Given the description of an element on the screen output the (x, y) to click on. 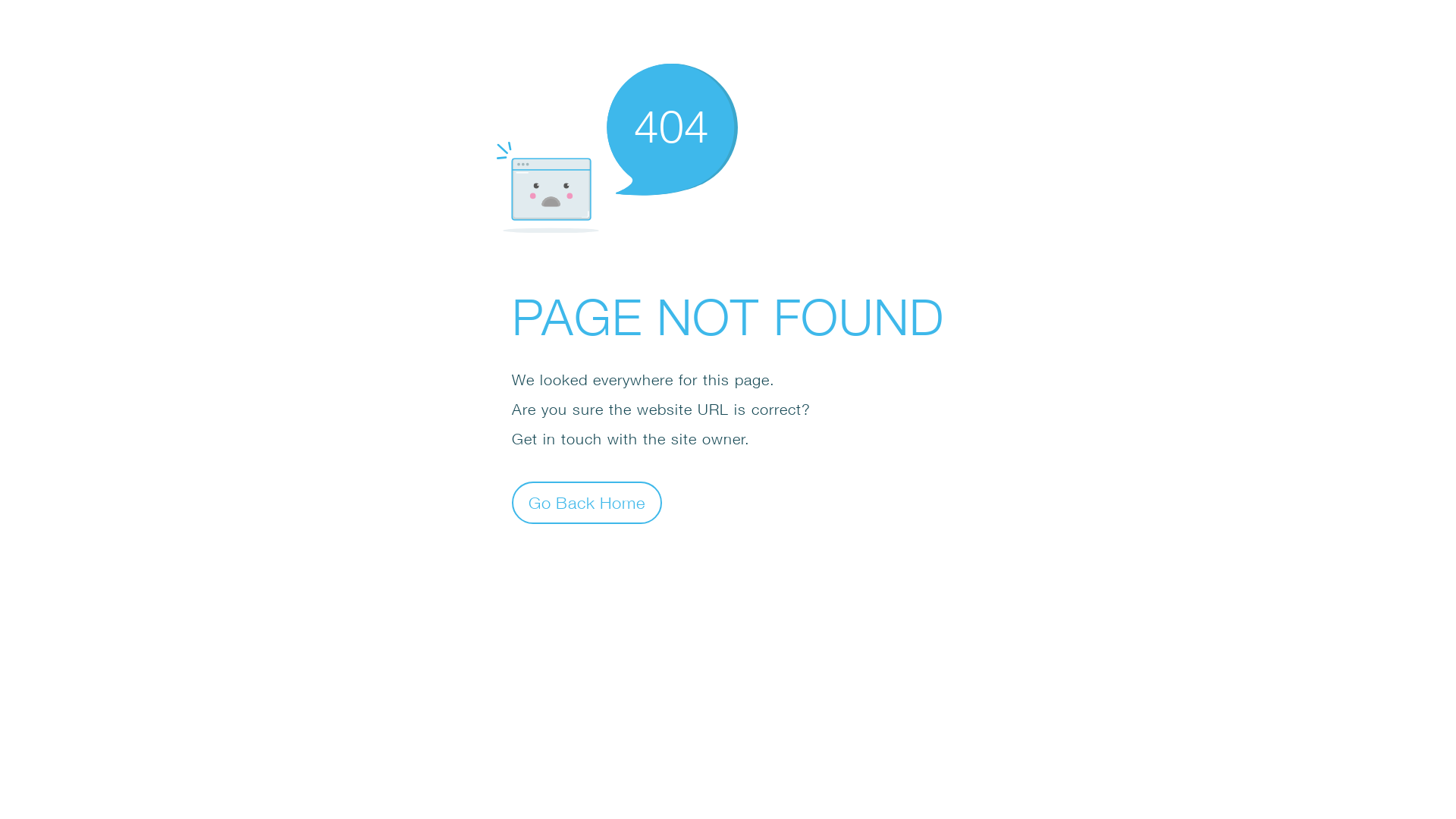
Go Back Home Element type: text (586, 502)
